Given the description of an element on the screen output the (x, y) to click on. 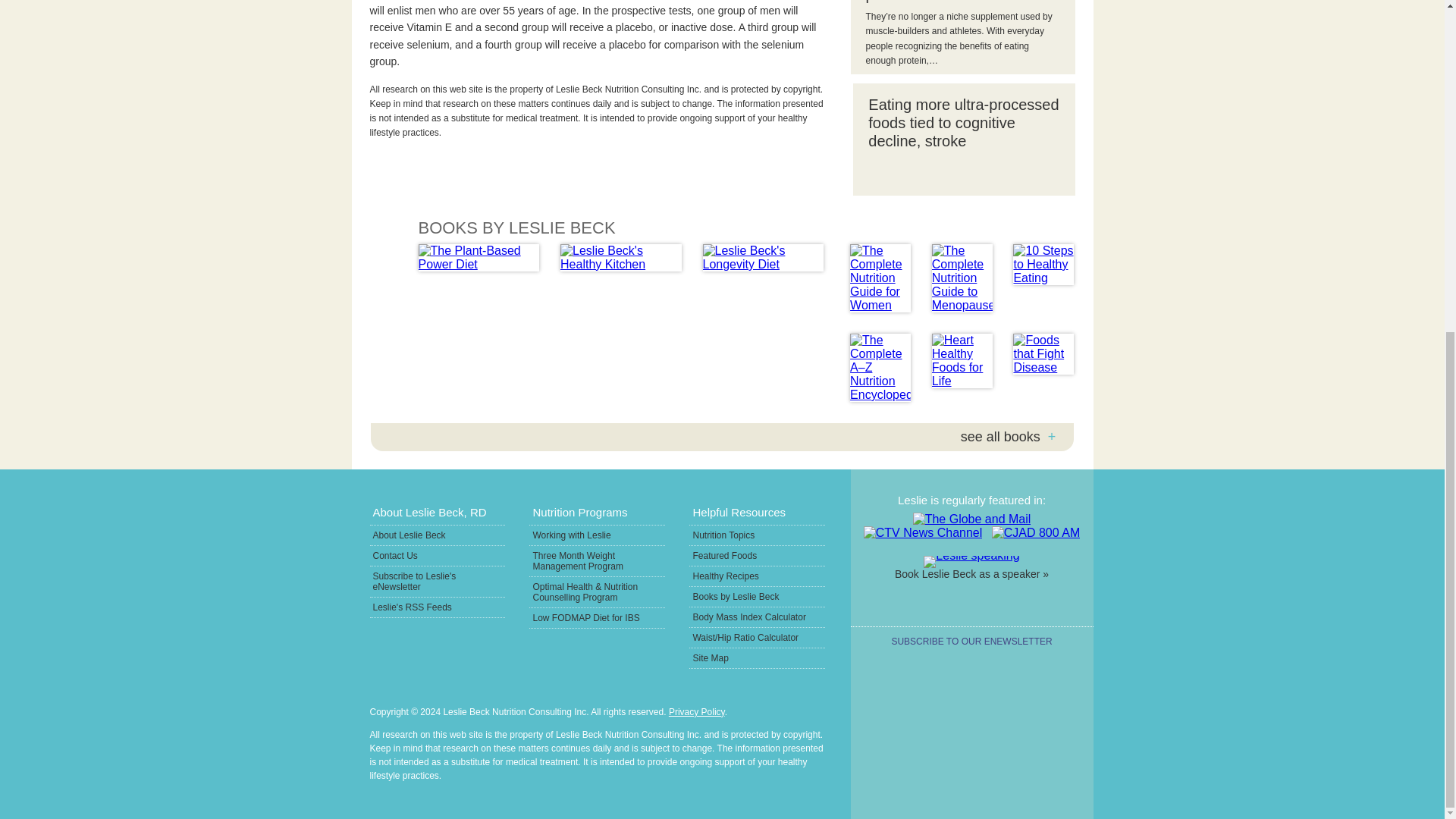
Do you really need a protein powder? (960, 1)
